Given the description of an element on the screen output the (x, y) to click on. 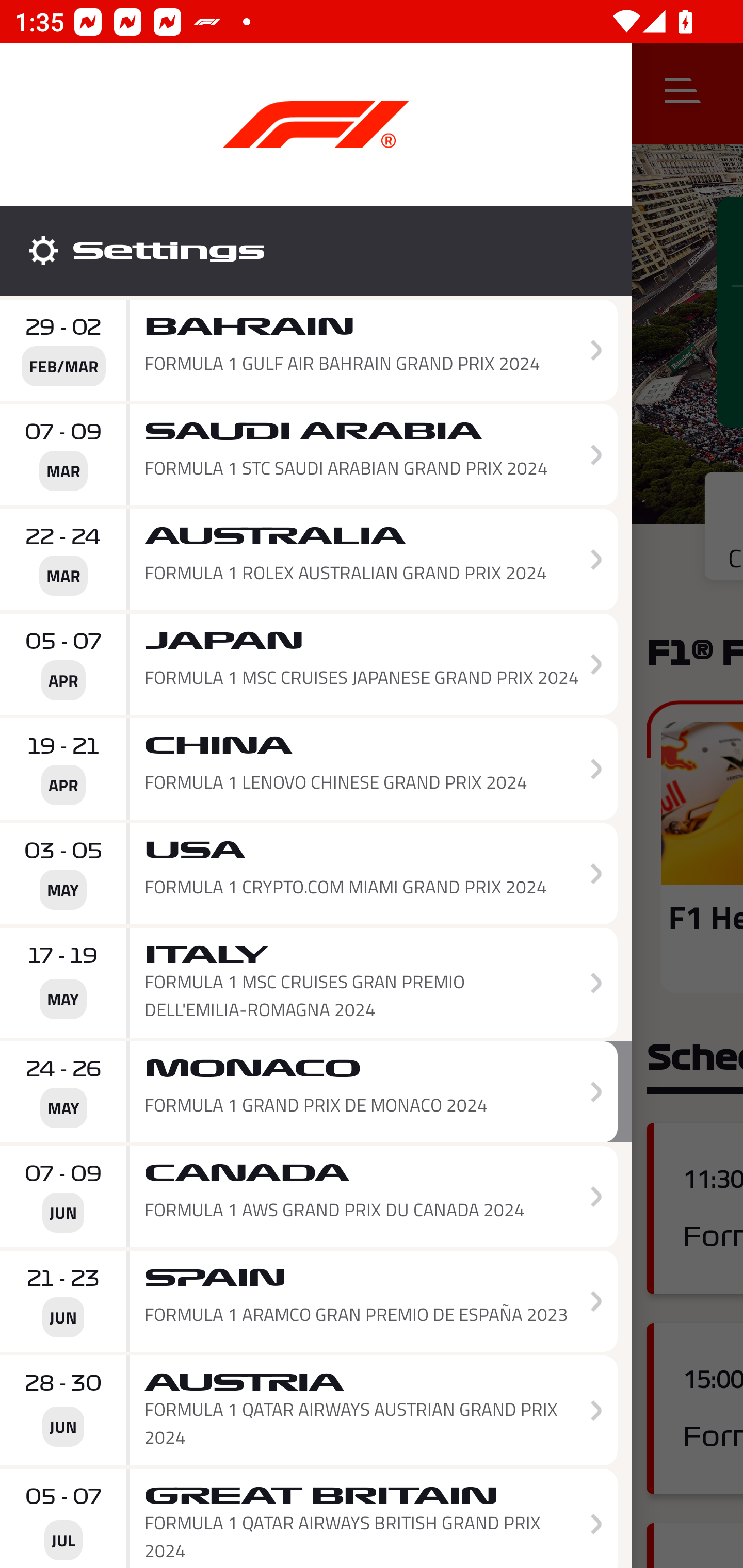
Settings (316, 250)
